Given the description of an element on the screen output the (x, y) to click on. 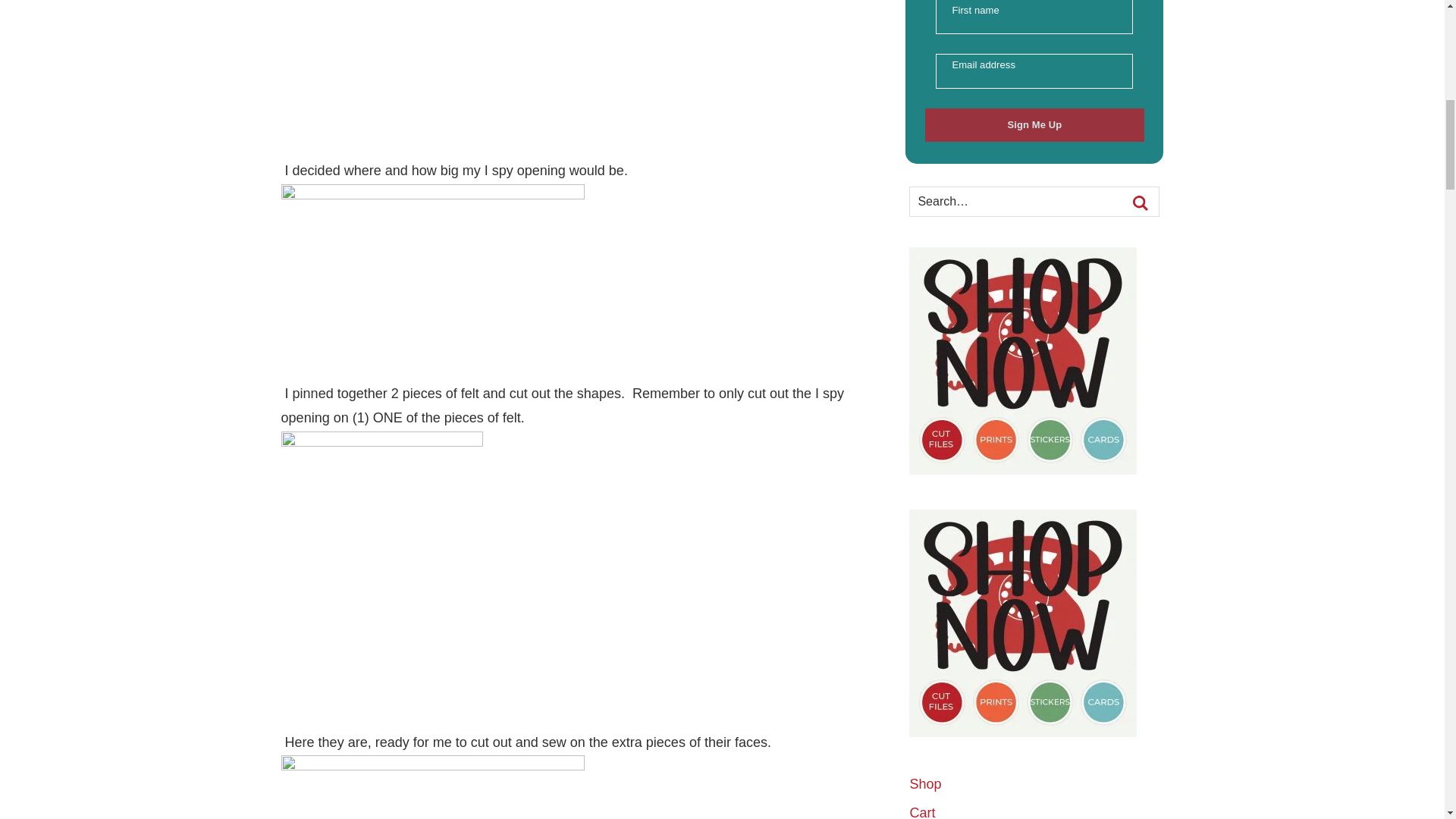
Search for (1034, 201)
